Given the description of an element on the screen output the (x, y) to click on. 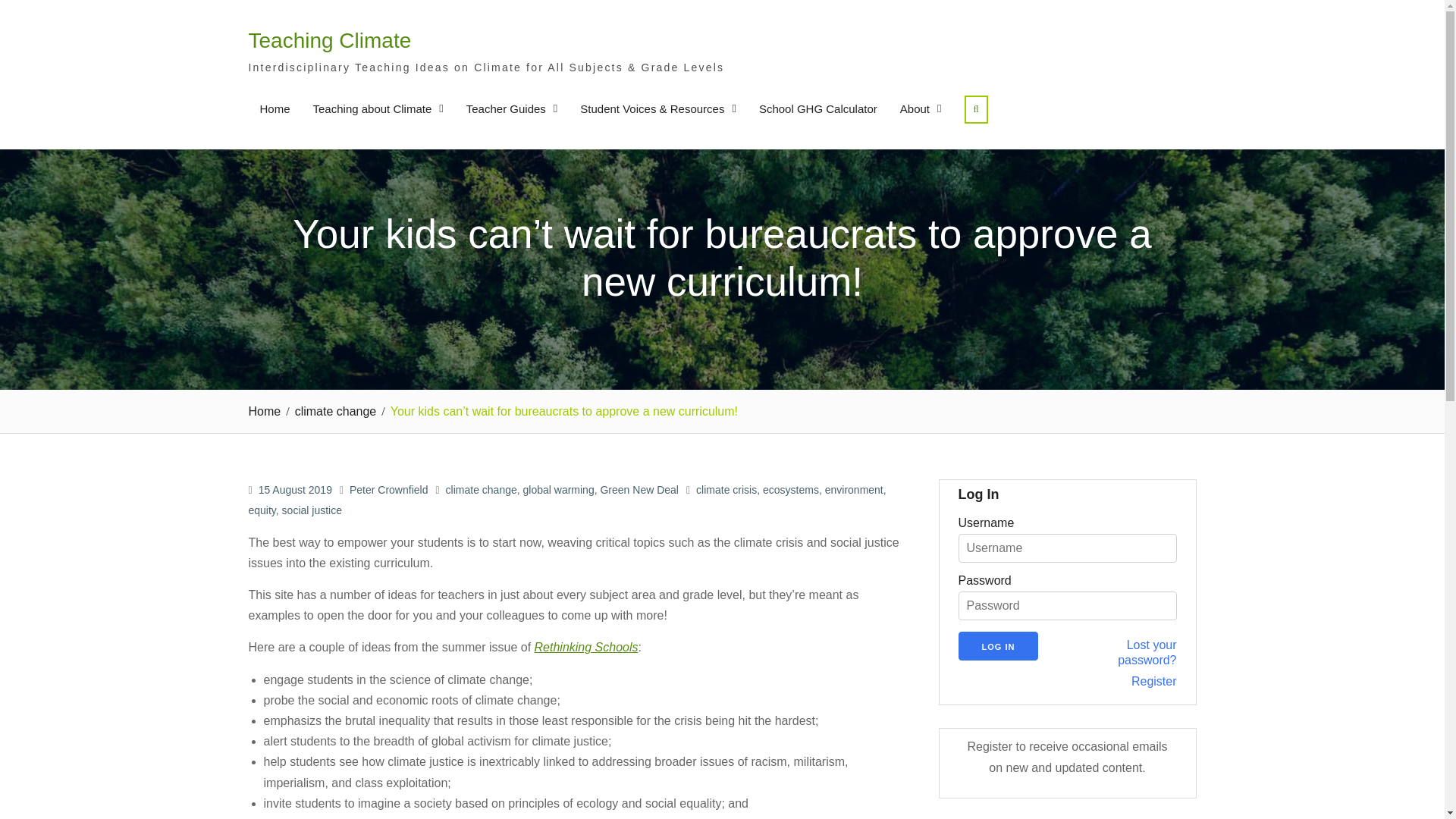
Log In (998, 645)
Password Lost and Found (1129, 653)
